Given the description of an element on the screen output the (x, y) to click on. 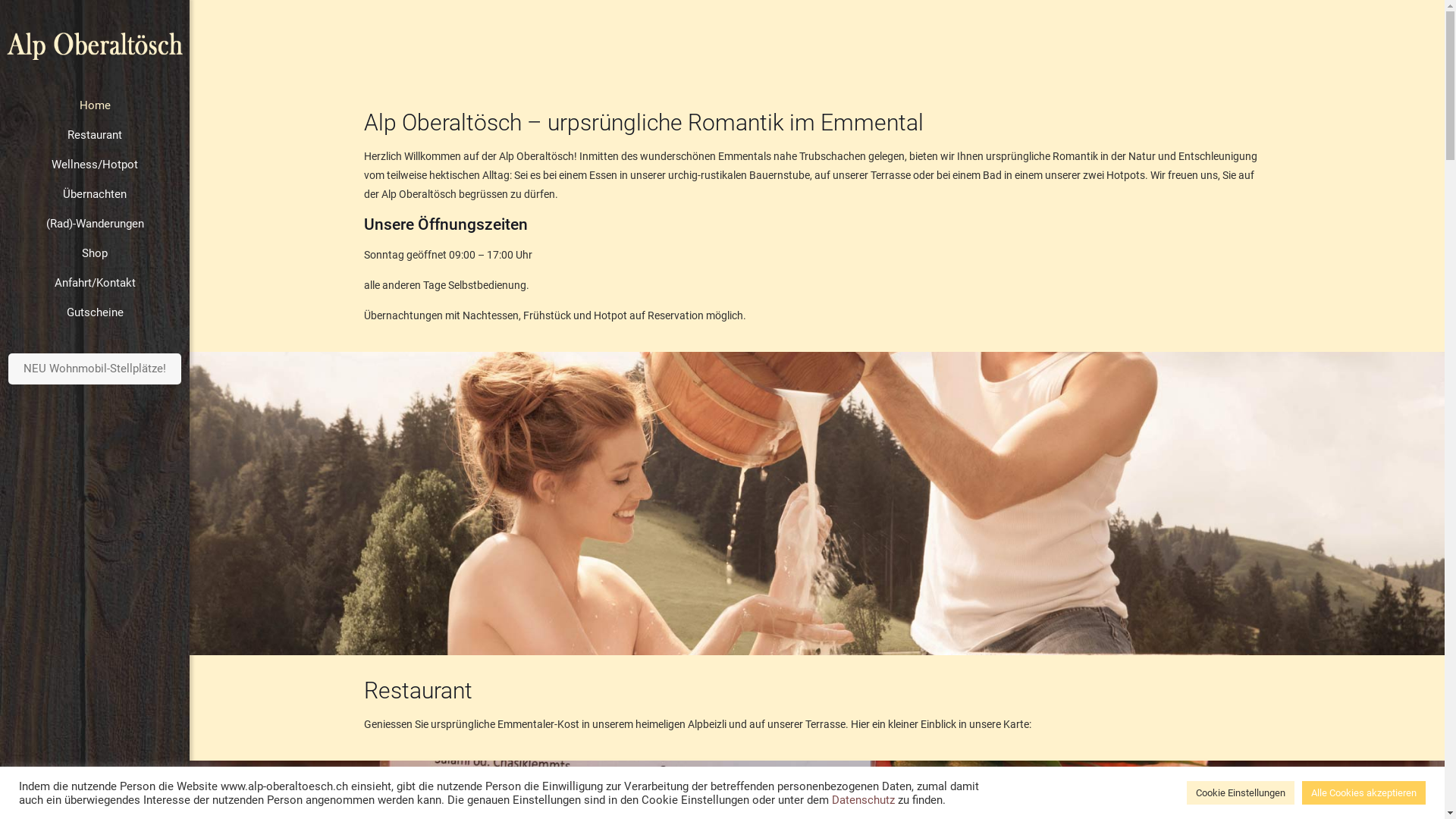
Cookie Einstellungen Element type: text (1240, 792)
Shop Element type: text (94, 253)
Home Element type: text (94, 105)
(Rad)-Wanderungen Element type: text (94, 223)
Alle Cookies akzeptieren Element type: text (1363, 792)
Anfahrt/Kontakt Element type: text (94, 283)
Gutscheine Element type: text (94, 312)
Restaurant Element type: text (94, 135)
Wellness/Hotpot Element type: text (94, 164)
Datenschutz Element type: text (864, 799)
